Given the description of an element on the screen output the (x, y) to click on. 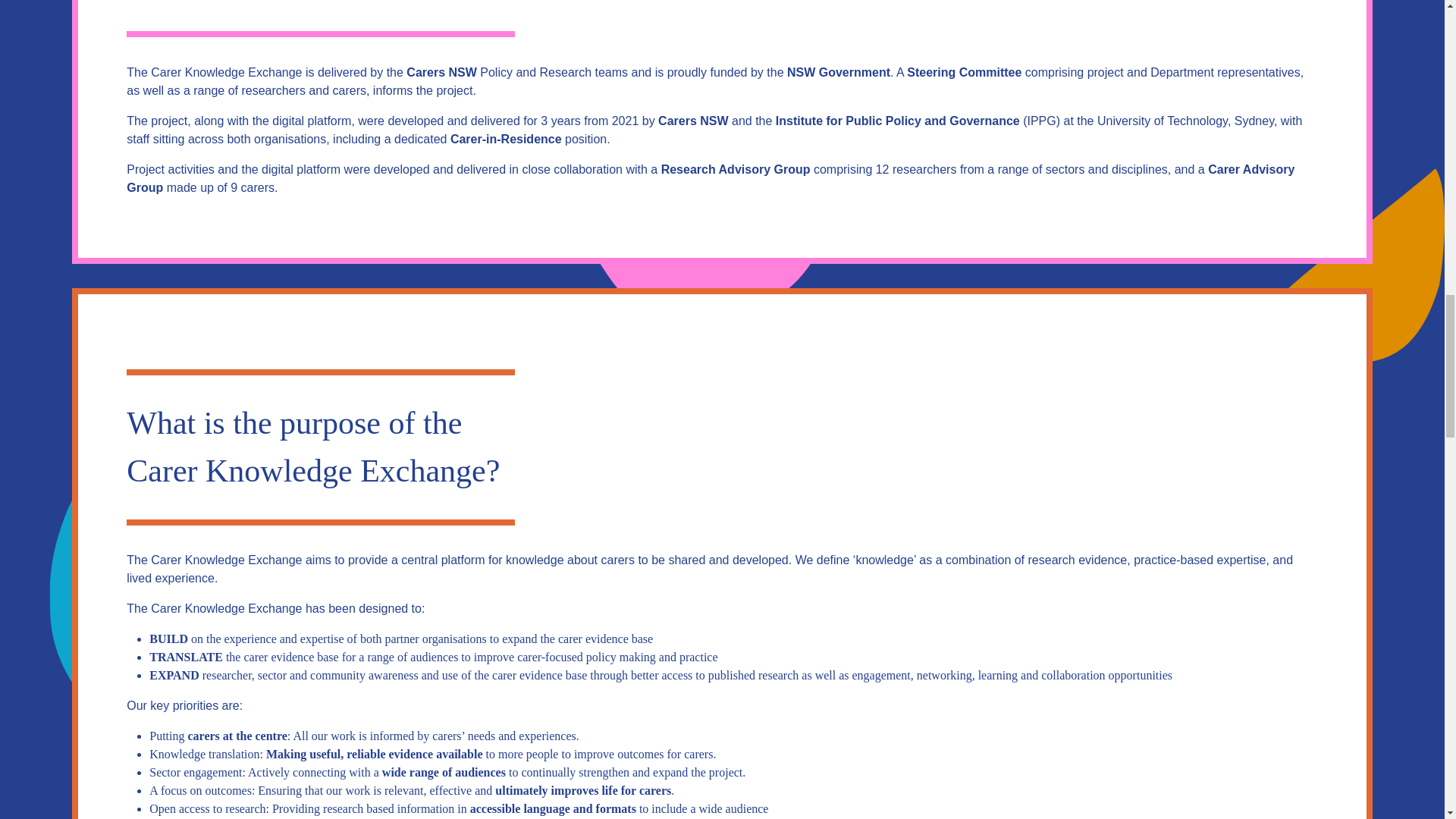
Carers NSW (693, 121)
NSW Government (838, 72)
Institute for Public Policy and Governance (898, 121)
Carers NSW (441, 72)
Carers NSW (441, 72)
